Given the description of an element on the screen output the (x, y) to click on. 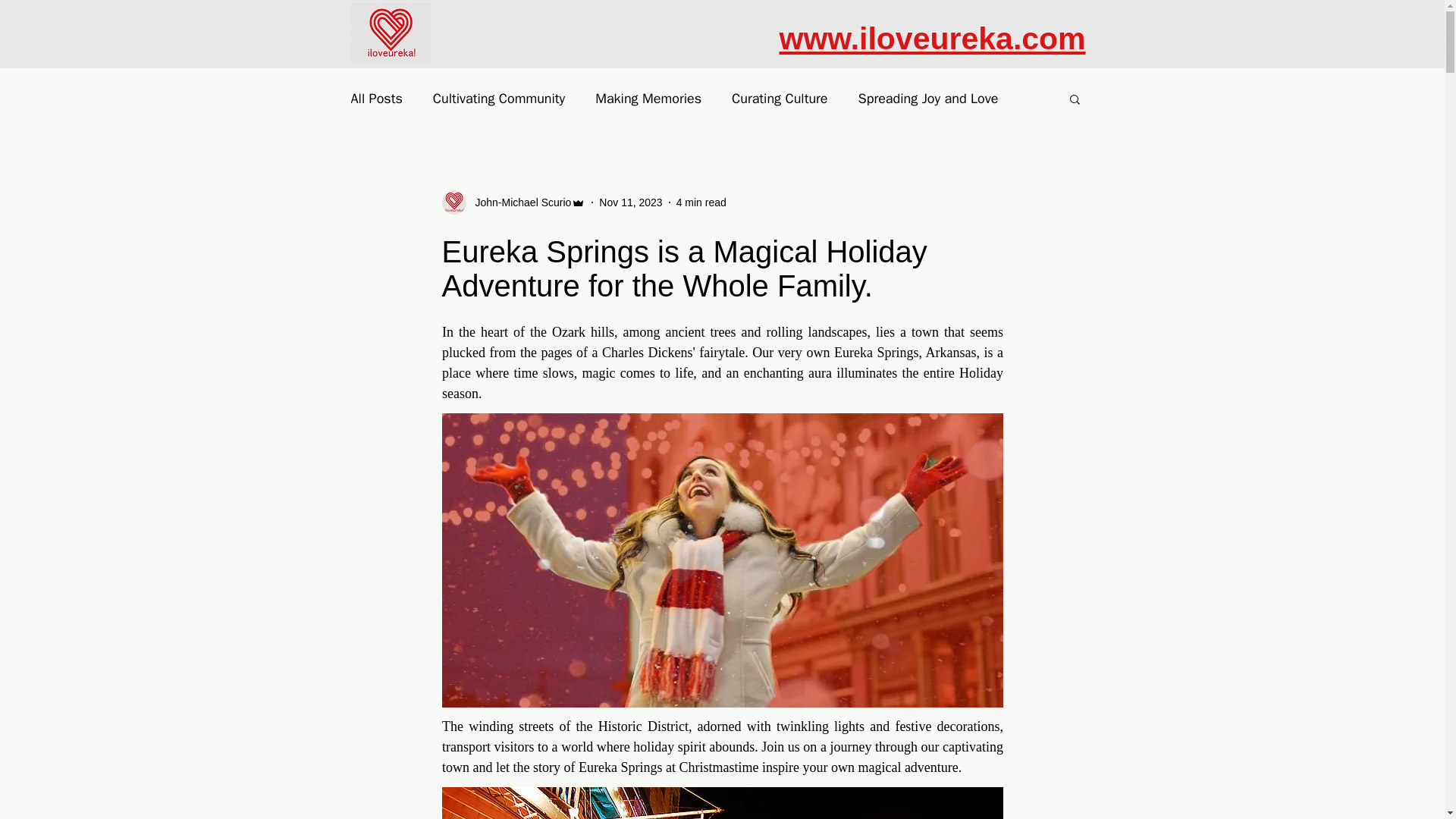
John-Michael Scurio (517, 201)
Curating Culture (780, 98)
Cultivating Community (498, 98)
Making Memories (648, 98)
John-Michael Scurio (513, 202)
4 min read (701, 201)
Nov 11, 2023 (630, 201)
www.iloveureka.com (932, 38)
Spreading Joy and Love (928, 98)
All Posts (375, 98)
